Given the description of an element on the screen output the (x, y) to click on. 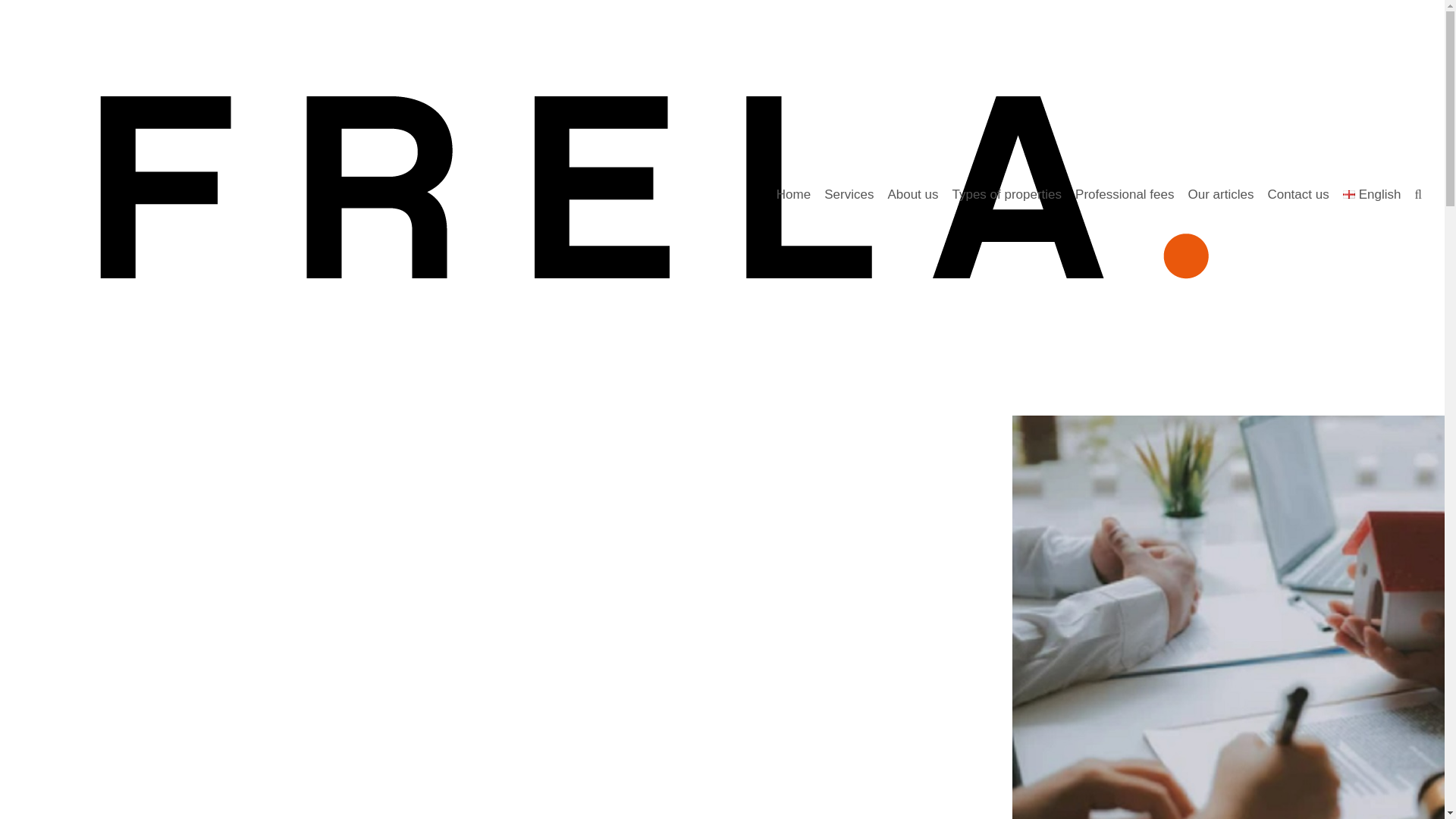
Services (848, 195)
Home (793, 195)
